Given the description of an element on the screen output the (x, y) to click on. 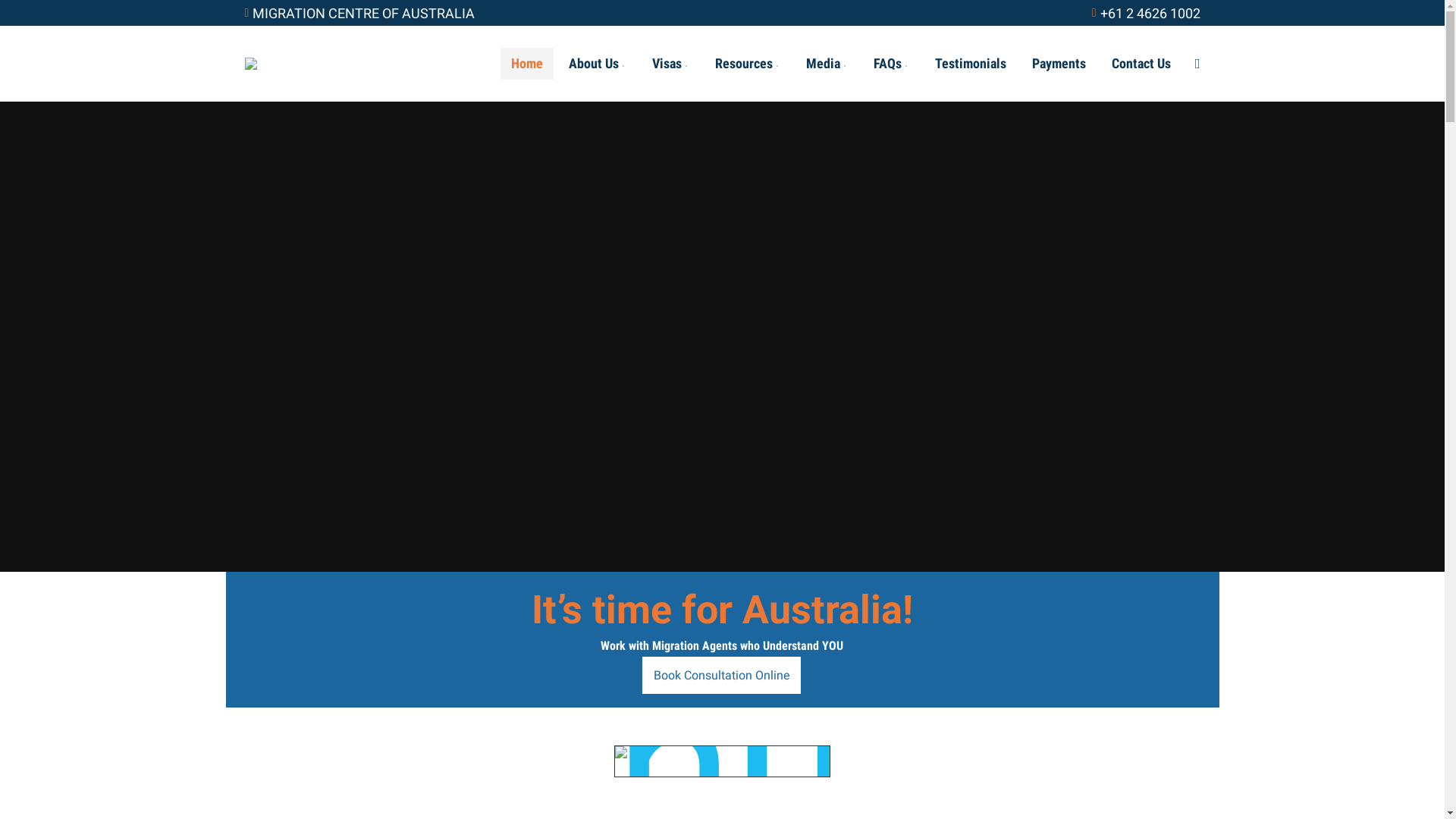
Book Consultation Online Element type: text (721, 674)
Testimonials Element type: text (970, 63)
Home Element type: text (526, 63)
FAQs Element type: text (890, 63)
MIGRATION CENTRE OF AUSTRALIA Element type: text (359, 13)
Visas Element type: text (670, 63)
Resources Element type: text (747, 63)
+61 2 4626 1002 Element type: text (1146, 13)
Payments Element type: text (1058, 63)
About Us Element type: text (597, 63)
Go! Element type: text (23, 15)
+61 2 4626 1002 Element type: text (1125, 27)
Media Element type: text (826, 63)
Contact Us Element type: text (1141, 63)
